Given the description of an element on the screen output the (x, y) to click on. 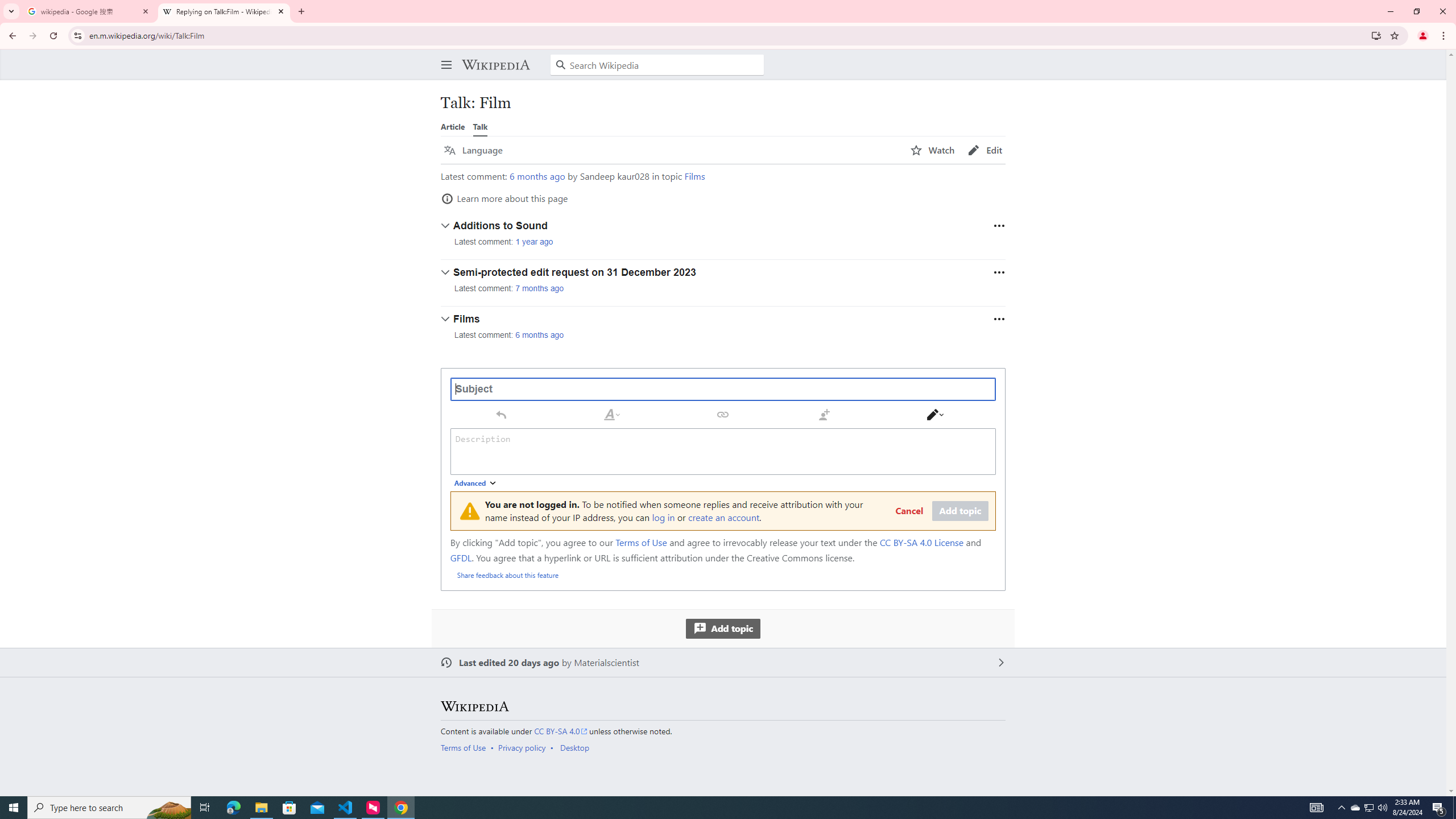
Undo Ctrl+Z (500, 414)
Install Wikipedia (1376, 35)
